Given the description of an element on the screen output the (x, y) to click on. 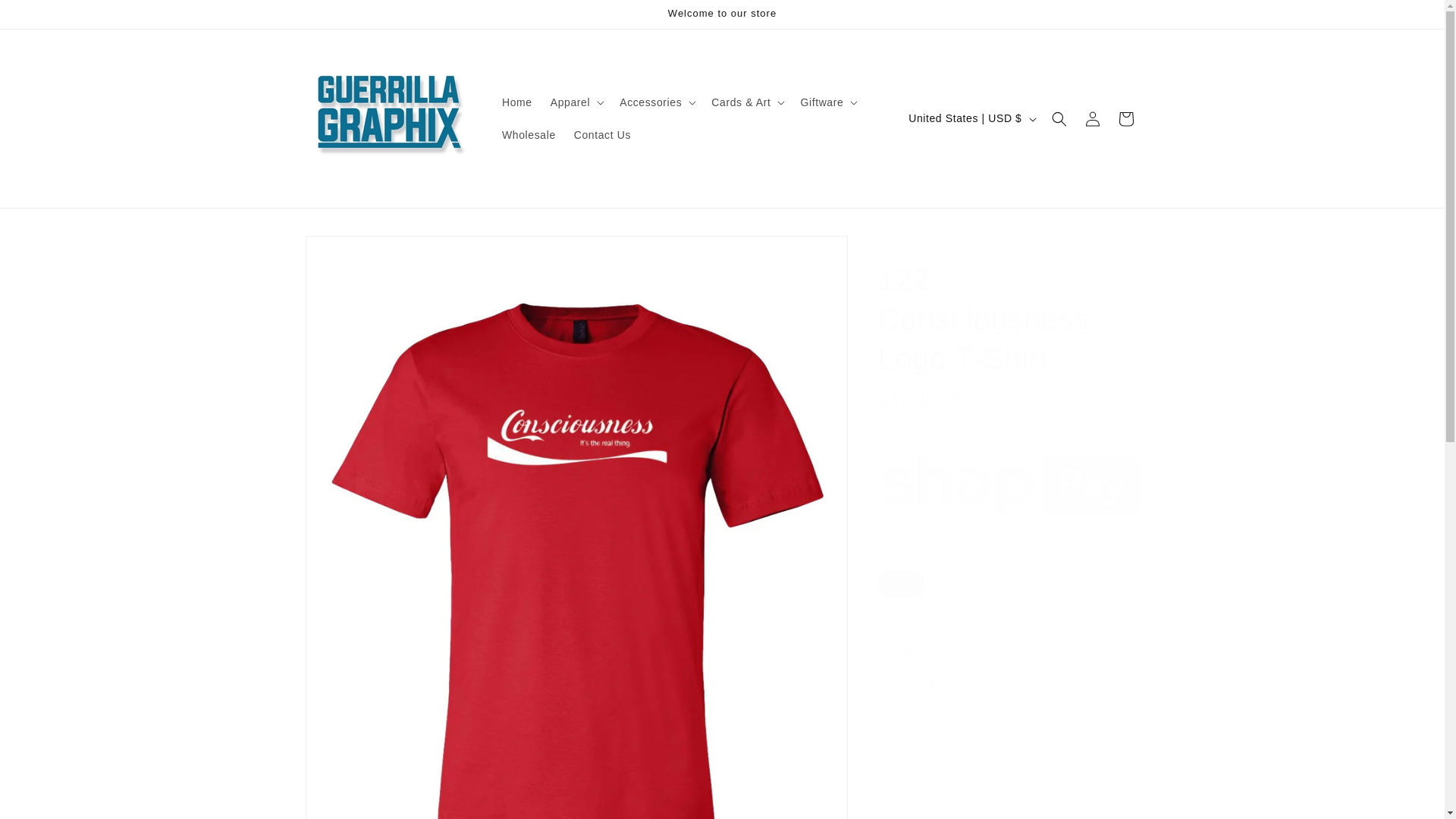
Skip to content (45, 17)
1 (931, 681)
